Given the description of an element on the screen output the (x, y) to click on. 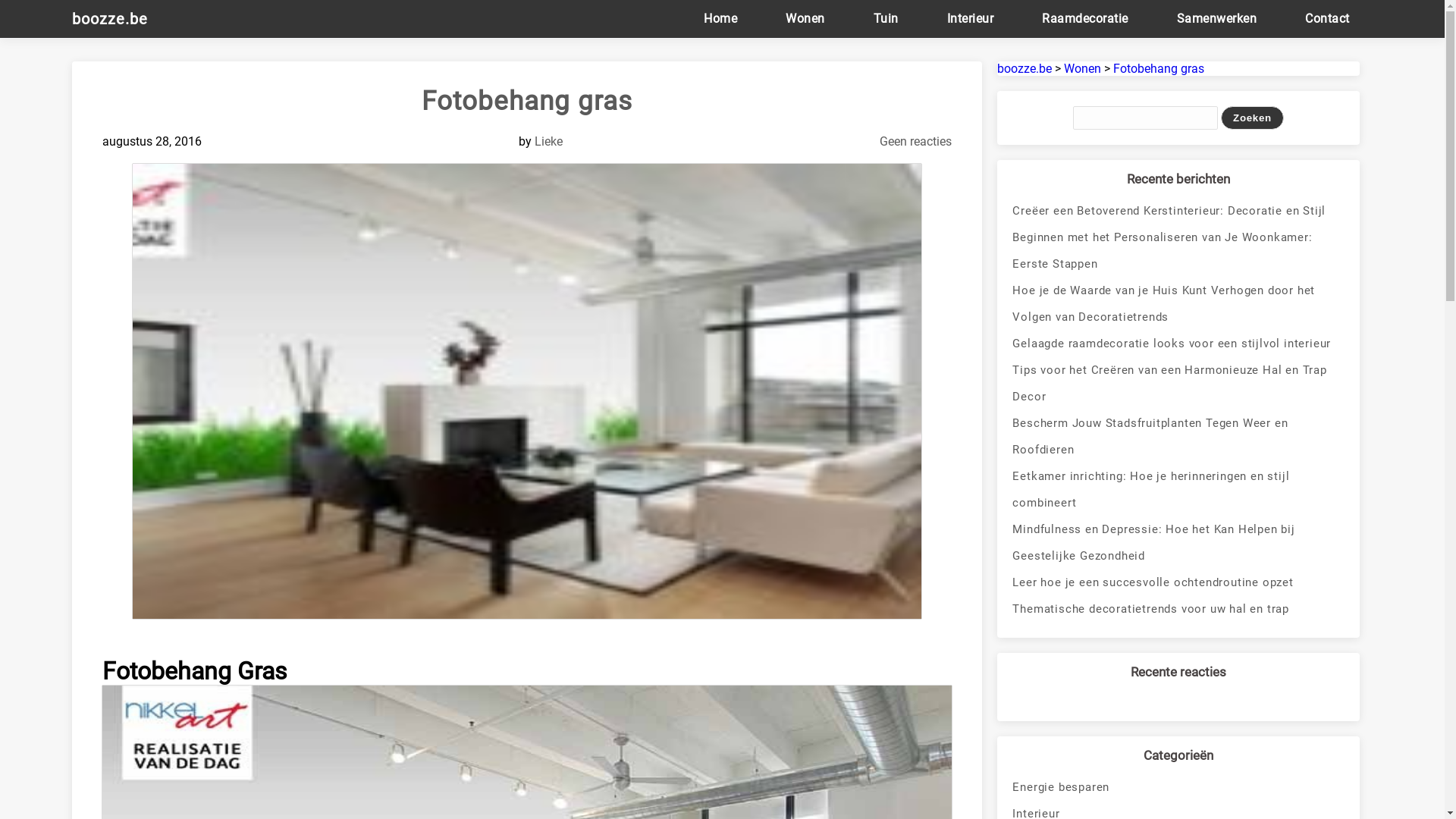
Geen reacties Element type: text (915, 141)
Fotobehang gras Element type: text (1158, 68)
boozze.be Element type: text (1024, 68)
Lieke Element type: text (548, 141)
Zoeken Element type: text (1251, 117)
Interieur Element type: text (970, 18)
Thematische decoratietrends voor uw hal en trap Element type: text (1177, 609)
Leer hoe je een succesvolle ochtendroutine opzet Element type: text (1177, 582)
boozze.be Element type: text (117, 18)
Bescherm Jouw Stadsfruitplanten Tegen Weer en Roofdieren Element type: text (1177, 436)
Samenwerken Element type: text (1216, 18)
Wonen Element type: text (1082, 68)
Wonen Element type: text (805, 18)
Raamdecoratie Element type: text (1084, 18)
Home Element type: text (720, 18)
Tuin Element type: text (885, 18)
Energie besparen Element type: text (1177, 787)
Contact Element type: text (1327, 18)
Gelaagde raamdecoratie looks voor een stijlvol interieur Element type: text (1177, 343)
